Given the description of an element on the screen output the (x, y) to click on. 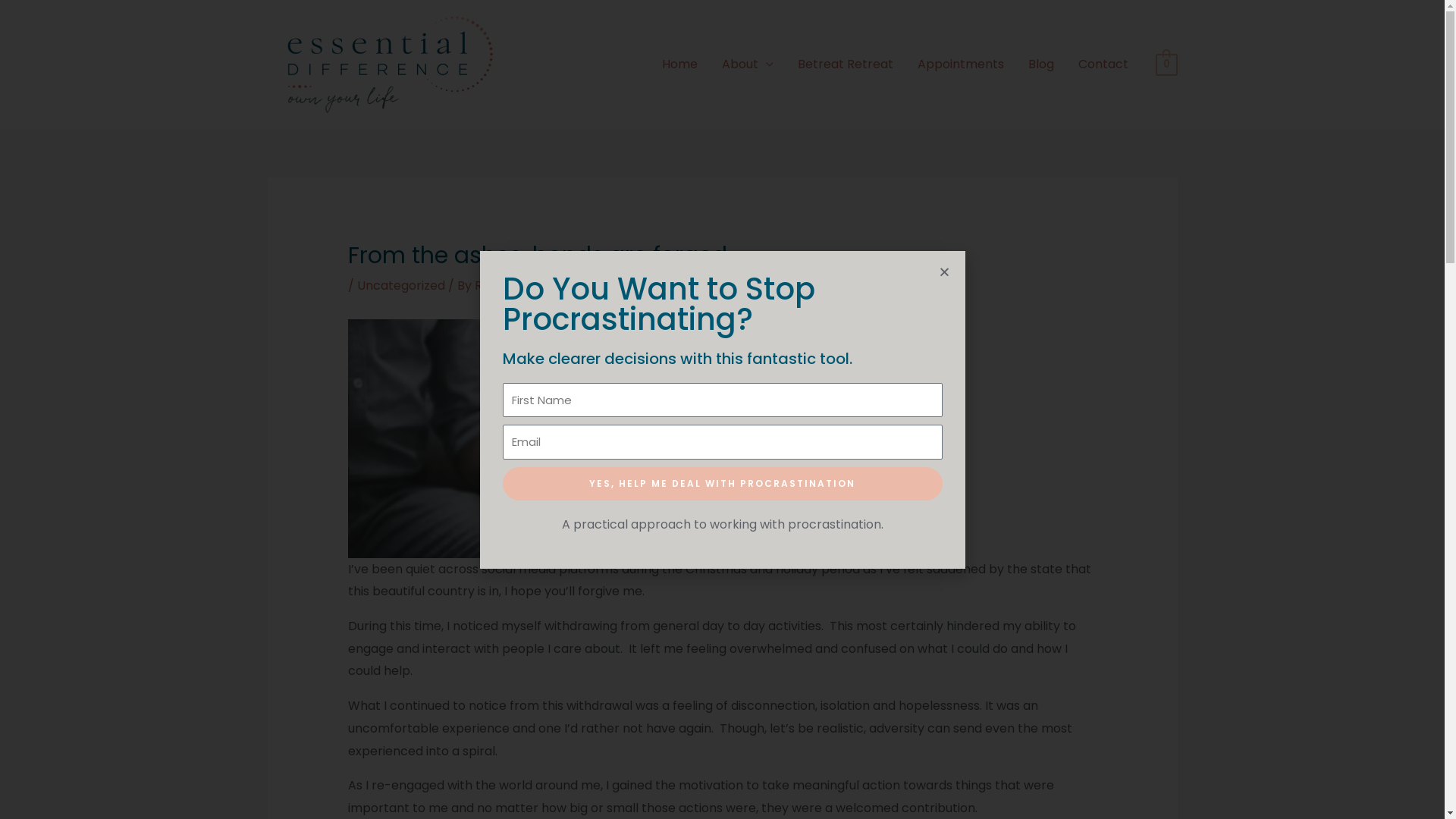
Contact Element type: text (1103, 64)
Betreat Retreat Element type: text (845, 64)
About Element type: text (747, 64)
Uncategorized Element type: text (401, 285)
Blog Element type: text (1041, 64)
Home Element type: text (679, 64)
Rosetta Holmes Element type: text (521, 285)
0 Element type: text (1166, 63)
YES, HELP ME DEAL WITH PROCRASTINATION Element type: text (721, 483)
Appointments Element type: text (960, 64)
